Given the description of an element on the screen output the (x, y) to click on. 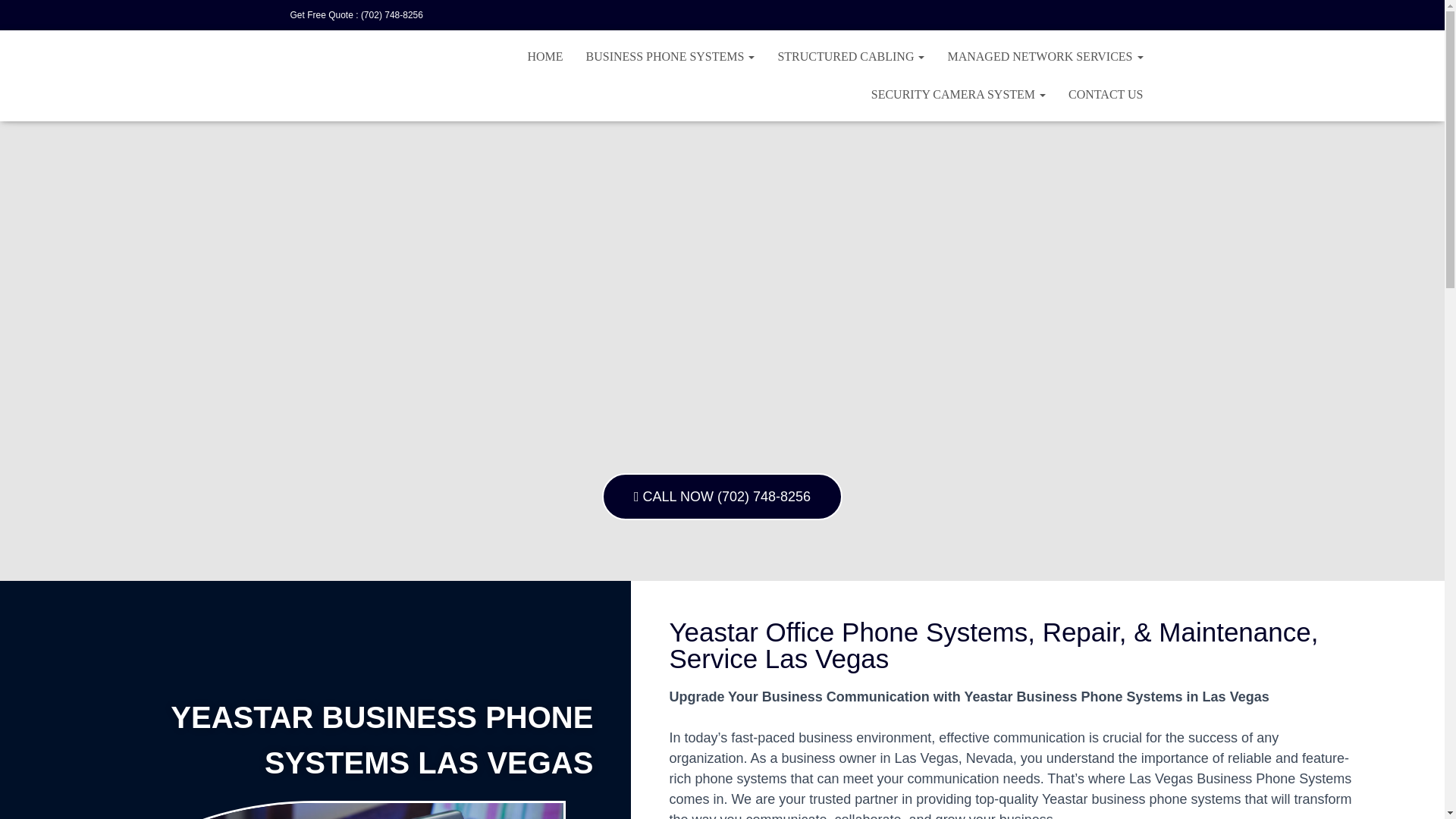
Home (544, 56)
BUSINESS PHONE SYSTEMS (671, 56)
CONTACT US (1105, 94)
BUSINESS PHONE SYSTEMS (671, 56)
SECURITY CAMERA SYSTEM (958, 94)
HOME (544, 56)
STRUCTURED CABLING (850, 56)
MANAGED NETWORK SERVICES (1045, 56)
